Given the description of an element on the screen output the (x, y) to click on. 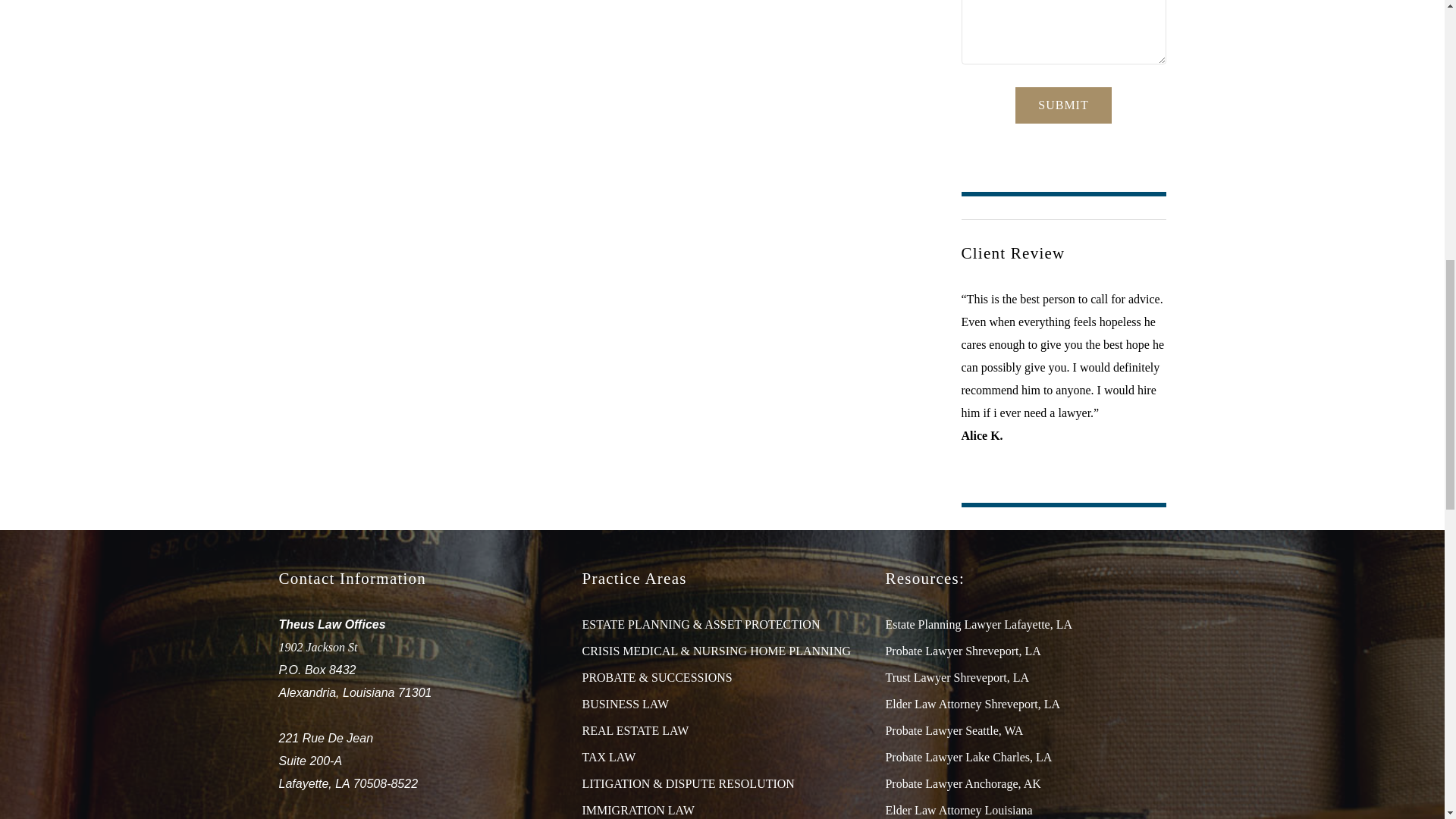
SUBMIT (1062, 104)
